Given the description of an element on the screen output the (x, y) to click on. 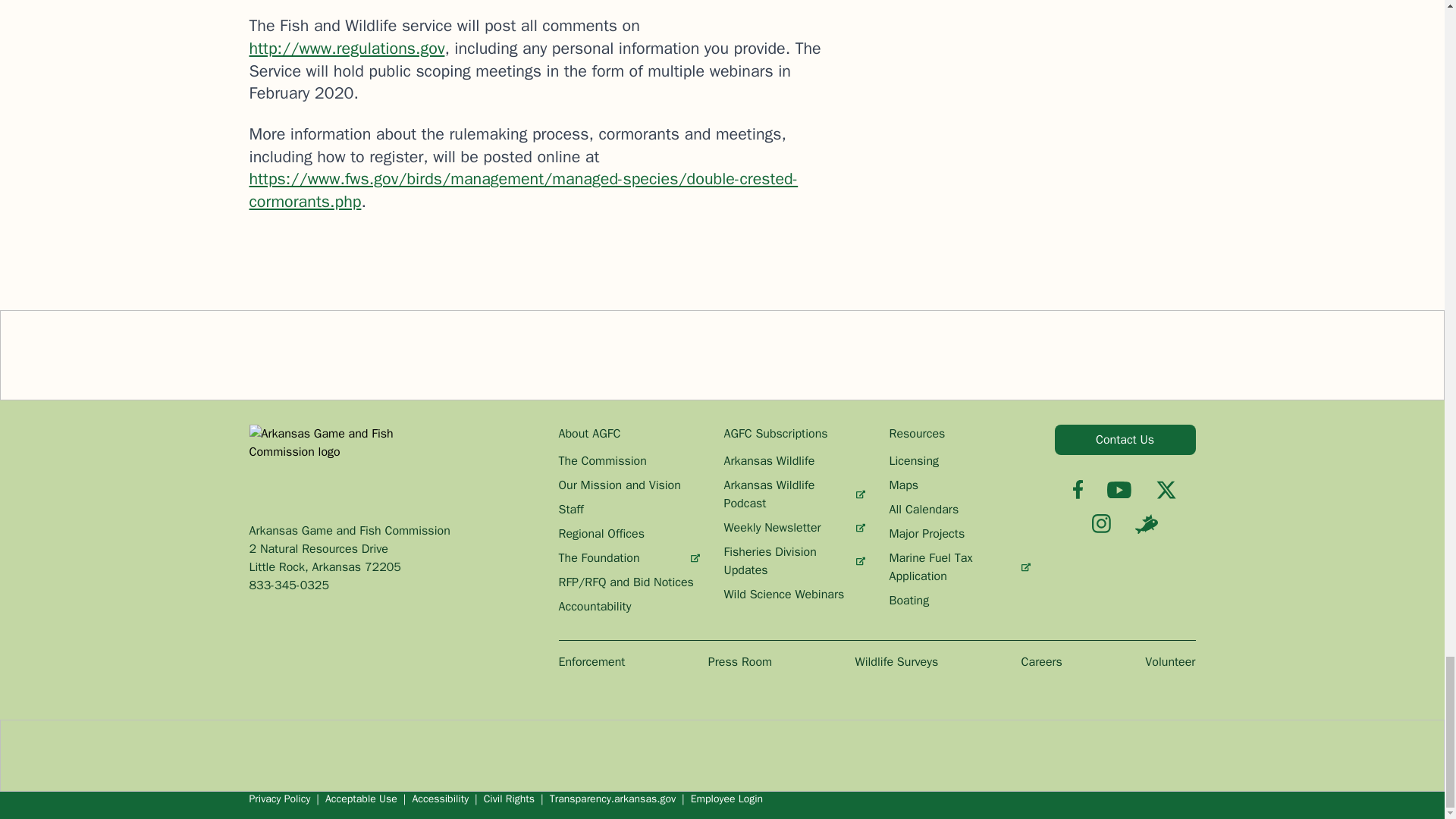
Fishbrain (1146, 523)
Twitter (1166, 489)
Instagram (1101, 523)
YouTube (1118, 489)
